Given the description of an element on the screen output the (x, y) to click on. 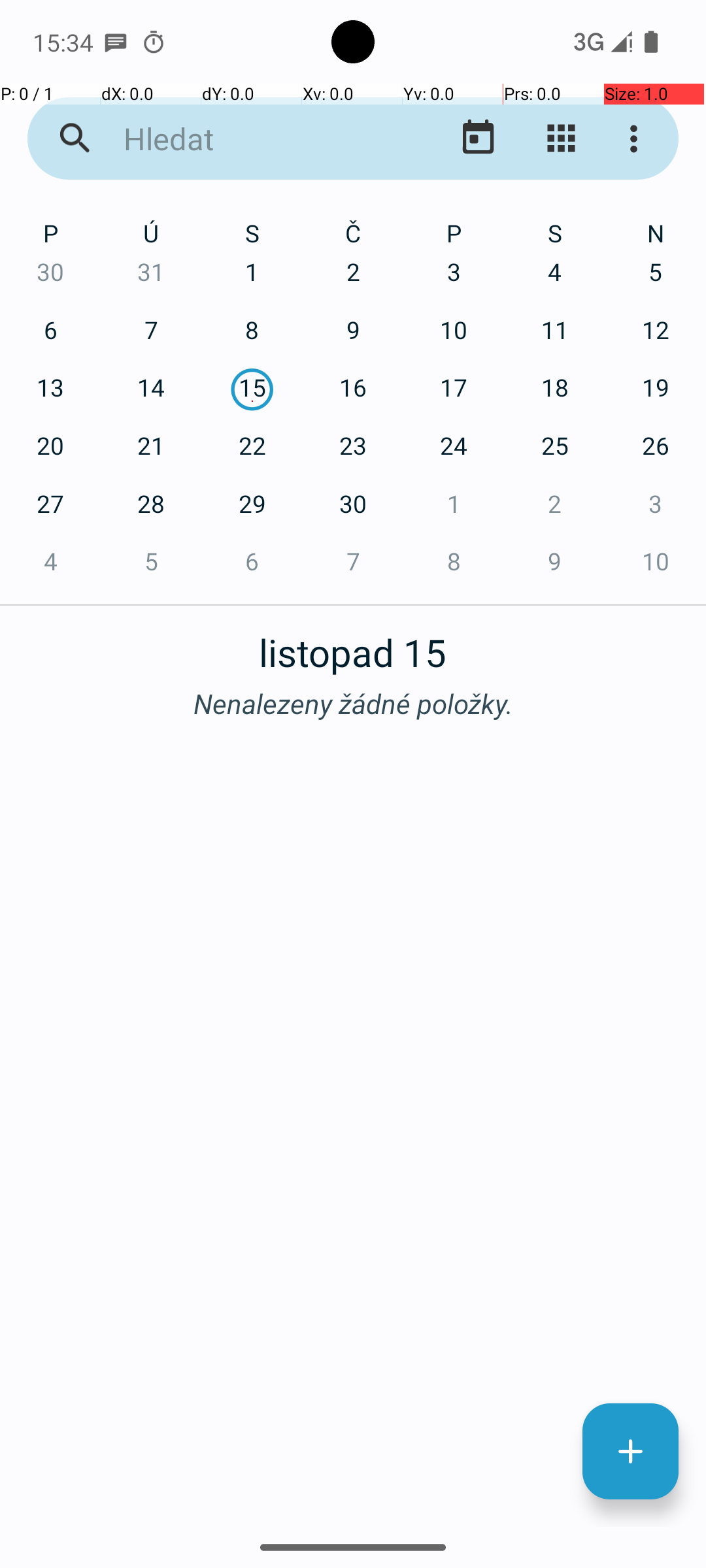
listopad 15 Element type: android.widget.TextView (352, 644)
Nenalezeny žádné položky. Element type: android.widget.TextView (352, 702)
SMS Messenger notification: +17247648679 Element type: android.widget.ImageView (115, 41)
